Given the description of an element on the screen output the (x, y) to click on. 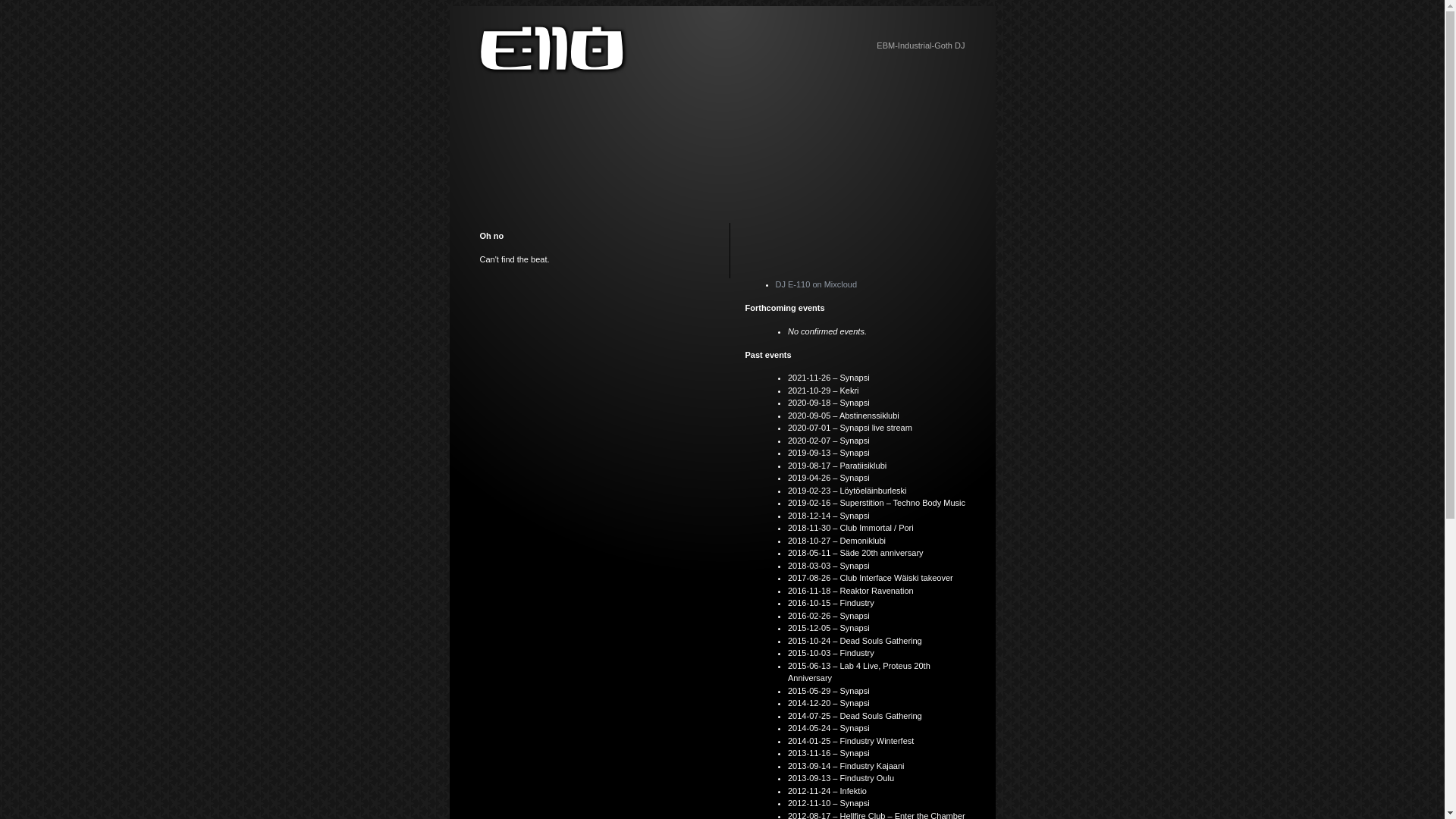
DJ E-110 on Mixcloud Element type: text (815, 283)
